Given the description of an element on the screen output the (x, y) to click on. 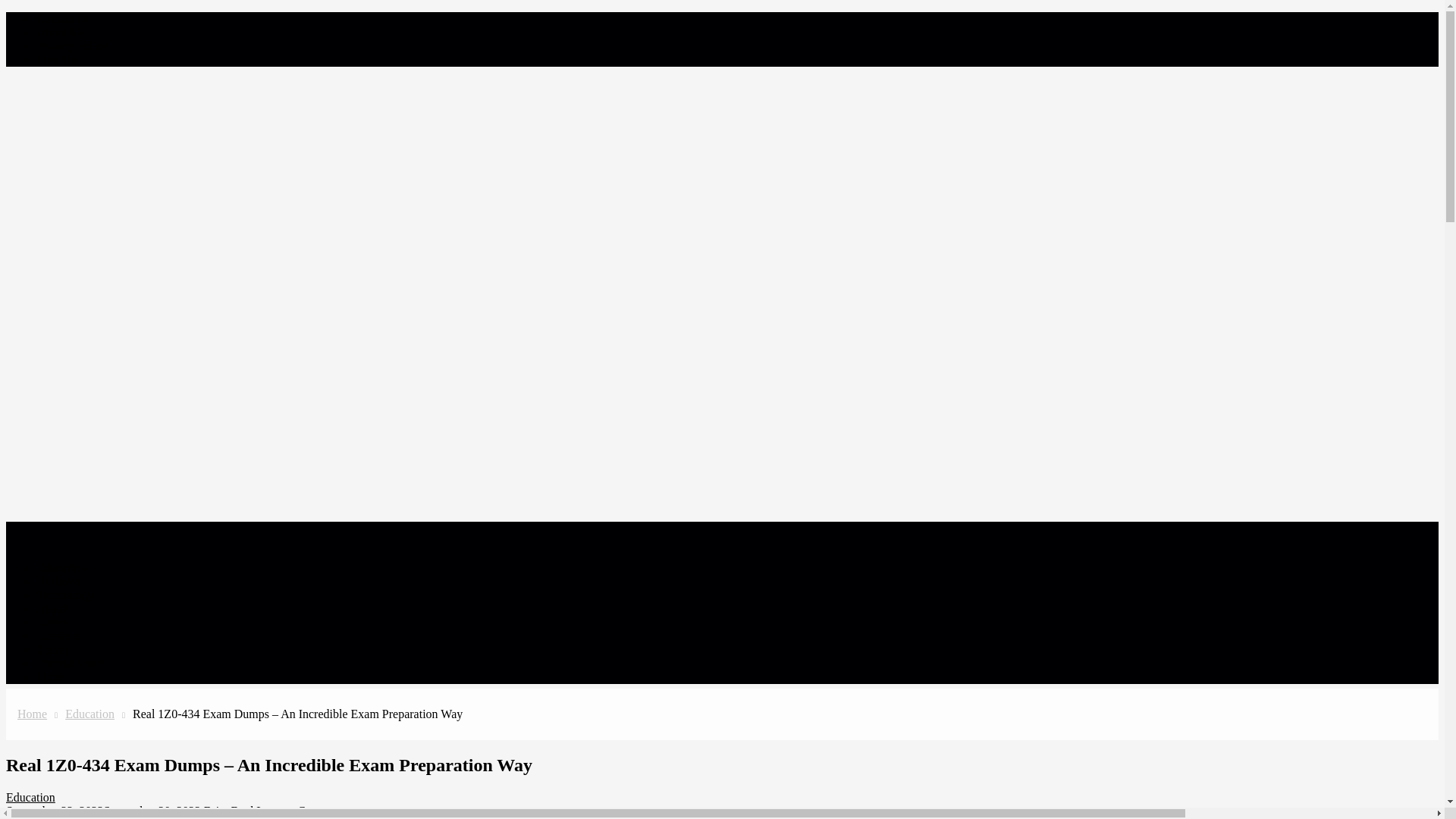
Education (30, 797)
Travel (51, 649)
Sport (49, 676)
Privacy Policy (71, 45)
Home (31, 713)
Latest (50, 621)
Sign Up (56, 59)
Education (60, 567)
Health (52, 608)
Business (58, 581)
